Given the description of an element on the screen output the (x, y) to click on. 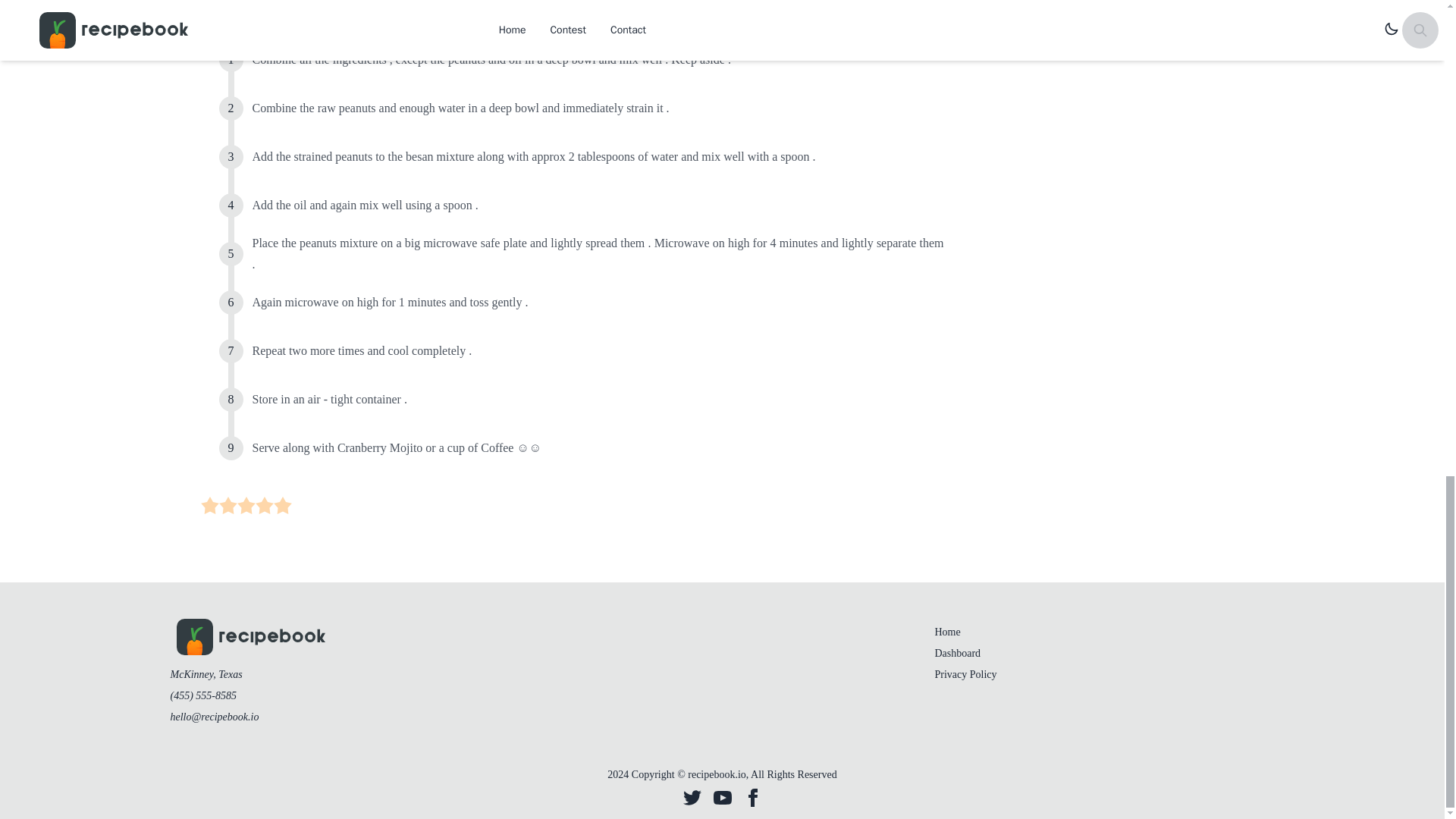
on (263, 505)
Home (946, 631)
on (209, 505)
Privacy Policy (964, 674)
on (244, 505)
Dashboard (956, 653)
on (226, 505)
on (282, 505)
